Given the description of an element on the screen output the (x, y) to click on. 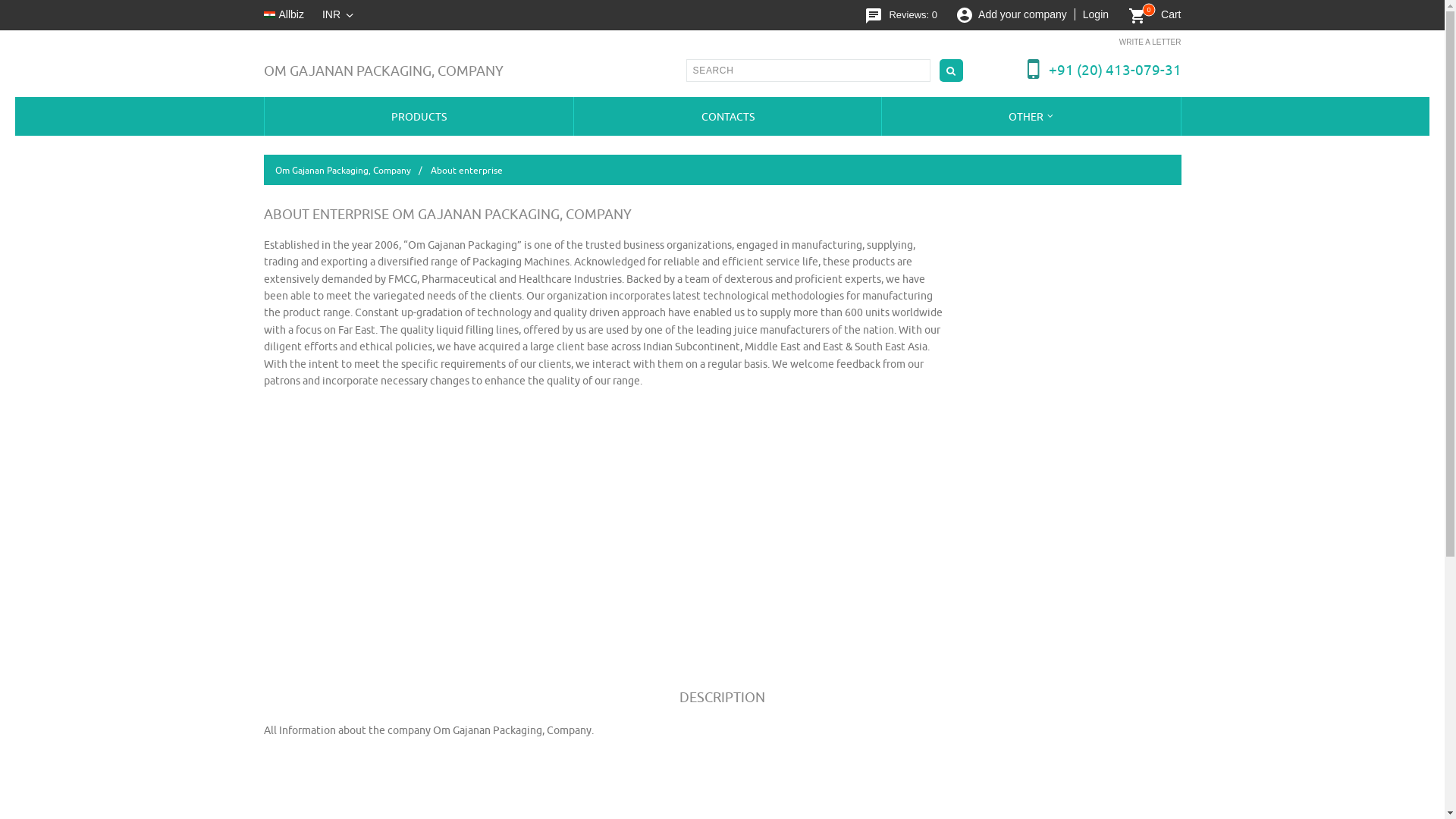
WRITE A LETTER (1149, 41)
About enterprise (466, 170)
Advertisement (721, 784)
CONTACTS (726, 116)
All reviews about Om Gajanan Packaging, Company (912, 14)
Allbiz (291, 14)
Om Gajanan Packaging, Company (352, 170)
PRODUCTS (418, 116)
